Given the description of an element on the screen output the (x, y) to click on. 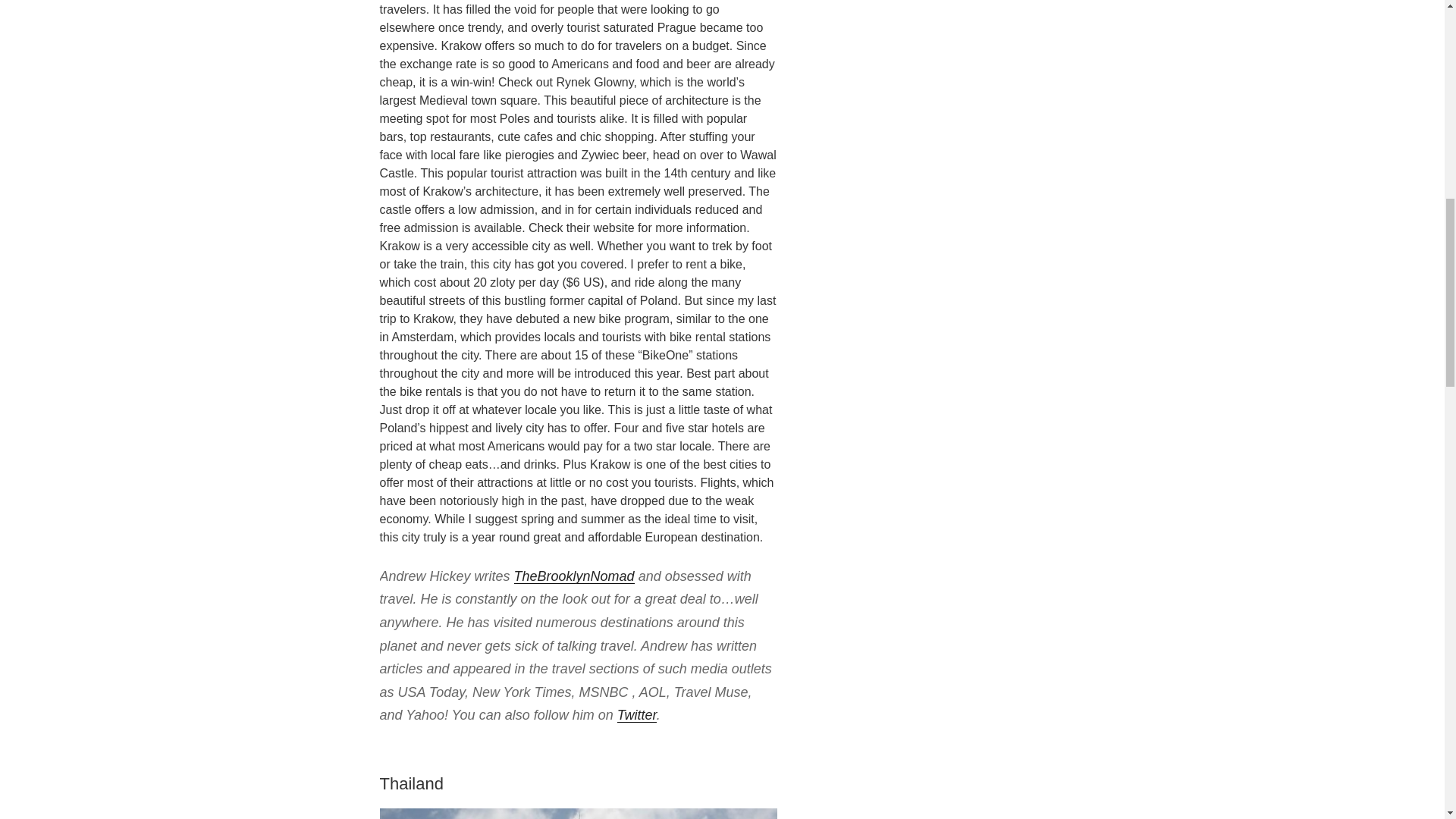
TheBrooklynNomad (573, 575)
Twitter (636, 714)
The Brooklyn Nomad (573, 575)
